Given the description of an element on the screen output the (x, y) to click on. 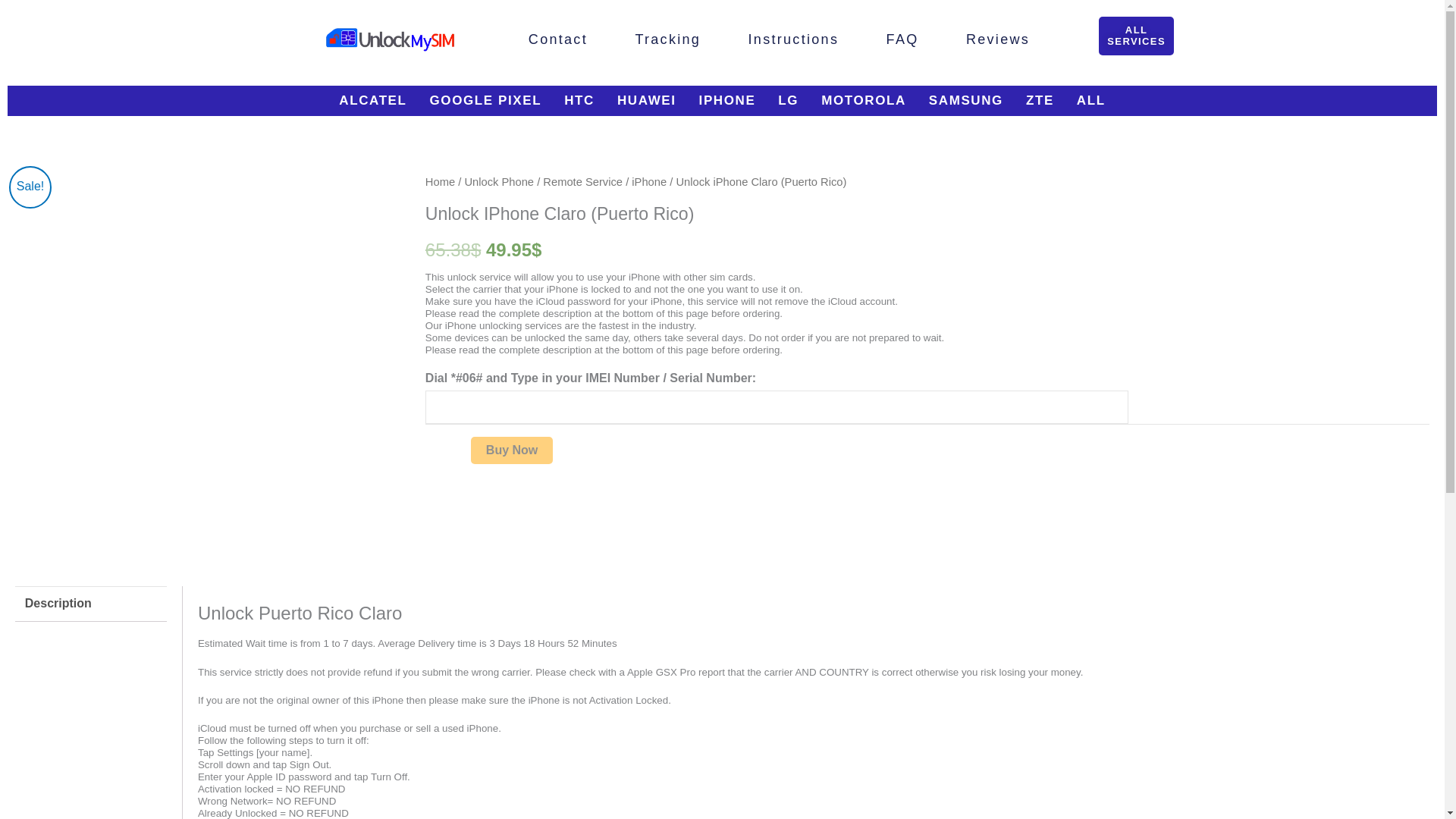
Home (439, 182)
GOOGLE PIXEL (486, 100)
LG (788, 100)
ALL SERVICES (1136, 35)
HTC (579, 100)
Unlock Phone (499, 182)
ALCATEL (372, 100)
iPhone (648, 182)
SAMSUNG (965, 100)
Tracking (667, 39)
